Given the description of an element on the screen output the (x, y) to click on. 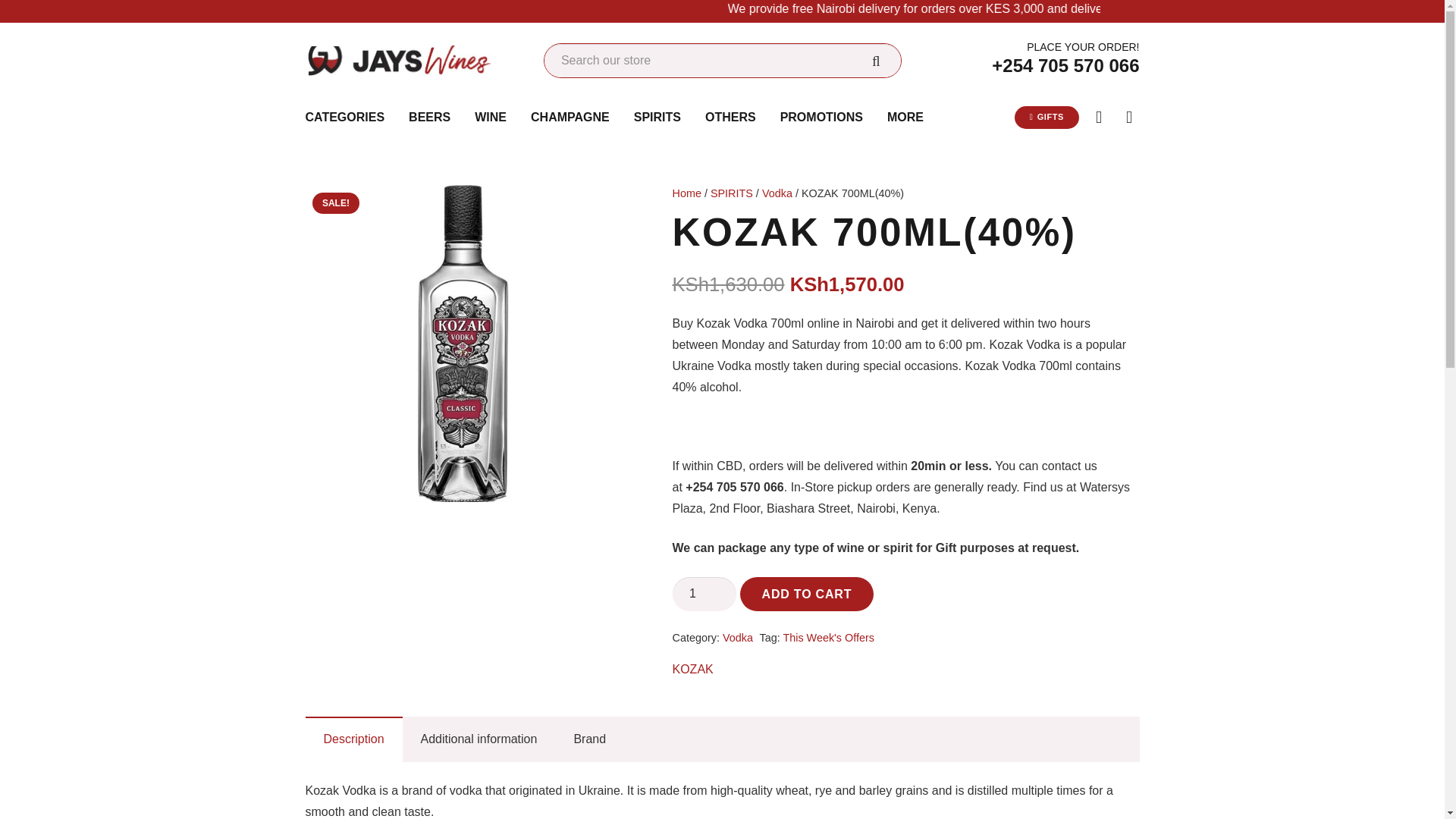
View brand (692, 669)
CATEGORIES (344, 117)
1 (703, 593)
Buy Kozak Vodka 700ml online in Nairobi (462, 343)
BEERS (429, 117)
WINE (490, 117)
